Given the description of an element on the screen output the (x, y) to click on. 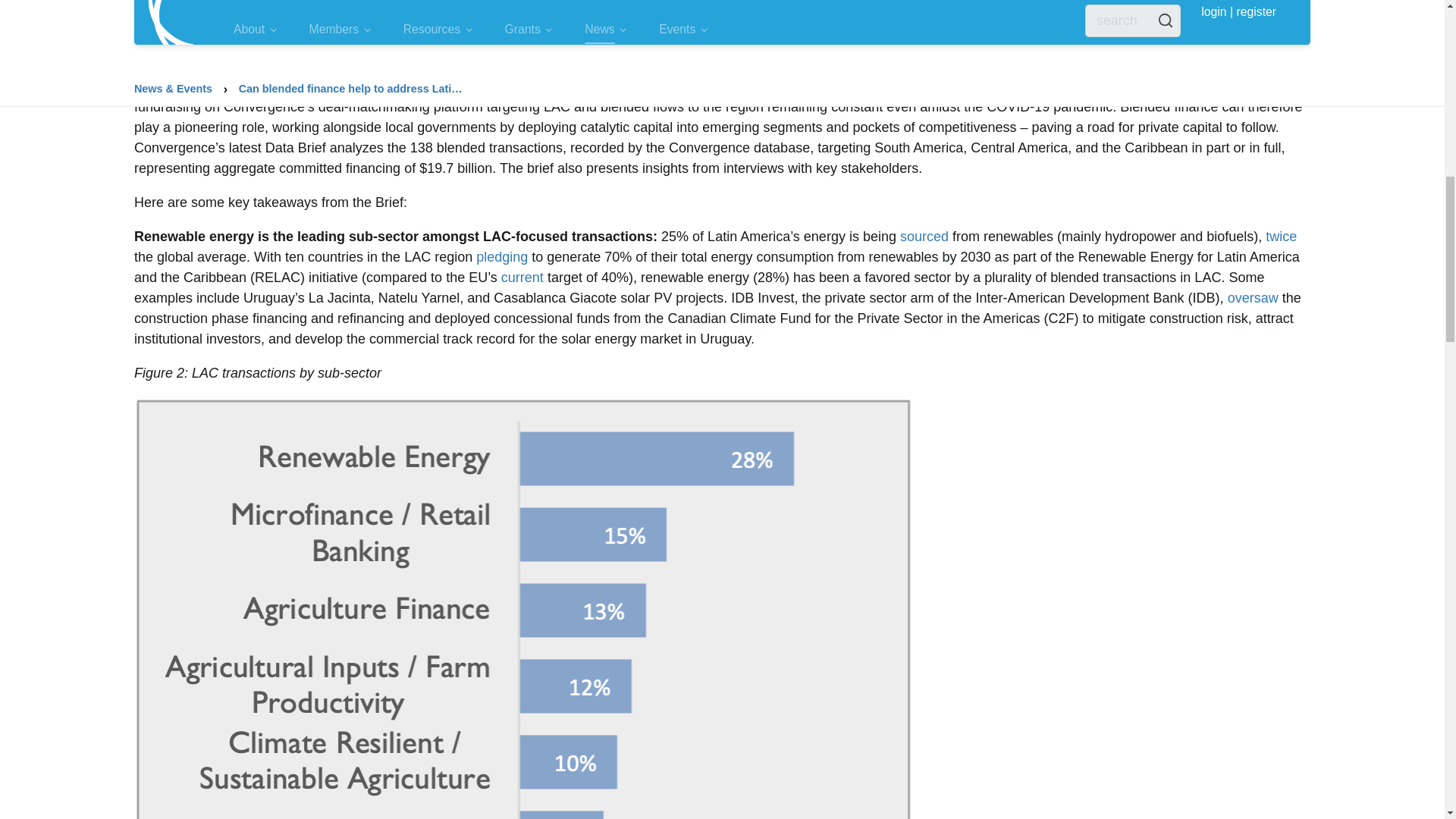
put (1006, 31)
plummeting (346, 11)
current (521, 277)
remains (695, 86)
sourced (924, 236)
like (902, 11)
oversaw (1252, 297)
pledging (501, 256)
twice (1281, 236)
